Given the description of an element on the screen output the (x, y) to click on. 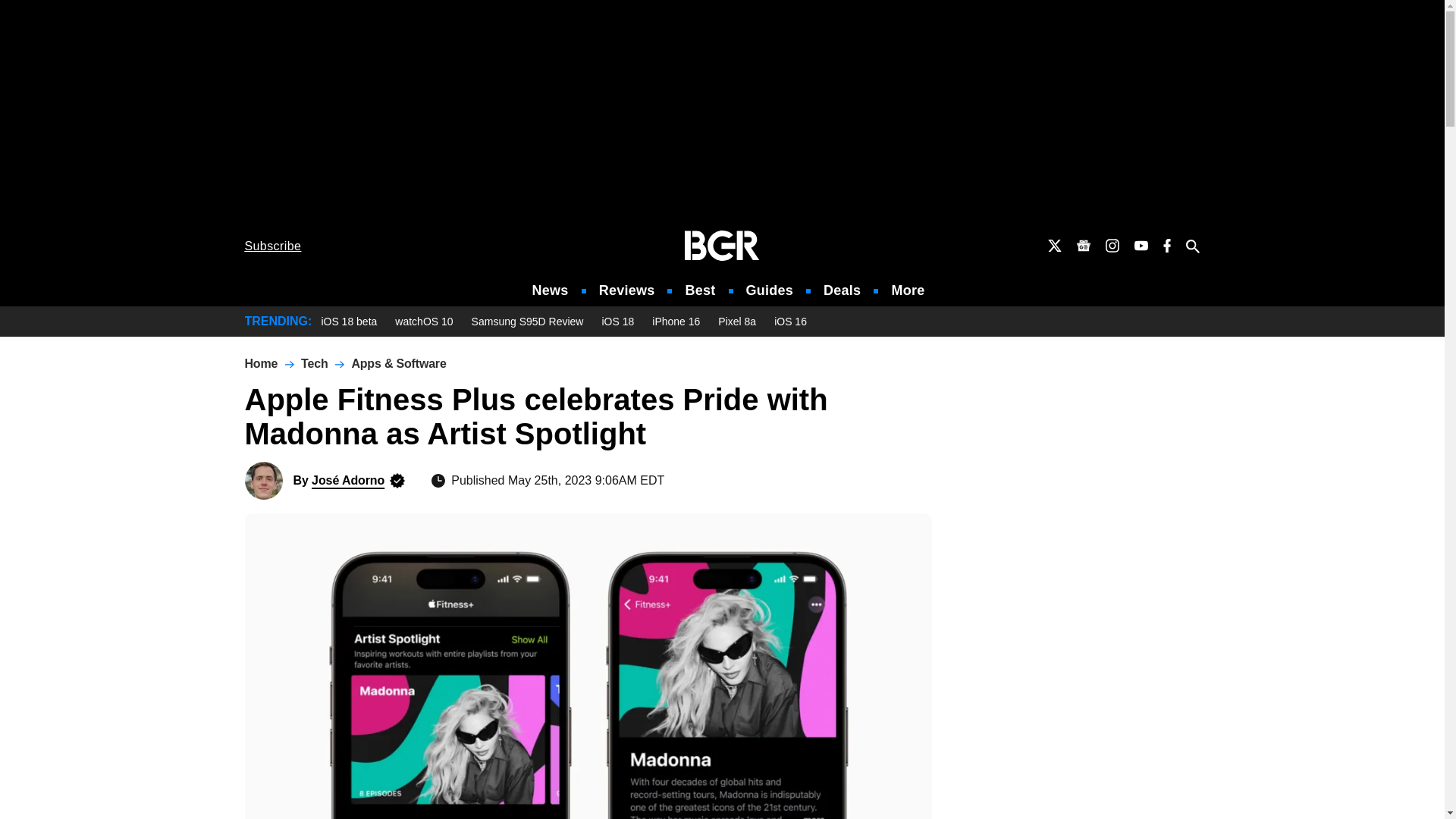
Deals (842, 290)
More (907, 290)
Reviews (626, 290)
Best (699, 290)
Guides (769, 290)
Subscribe (272, 245)
News (550, 290)
